Given the description of an element on the screen output the (x, y) to click on. 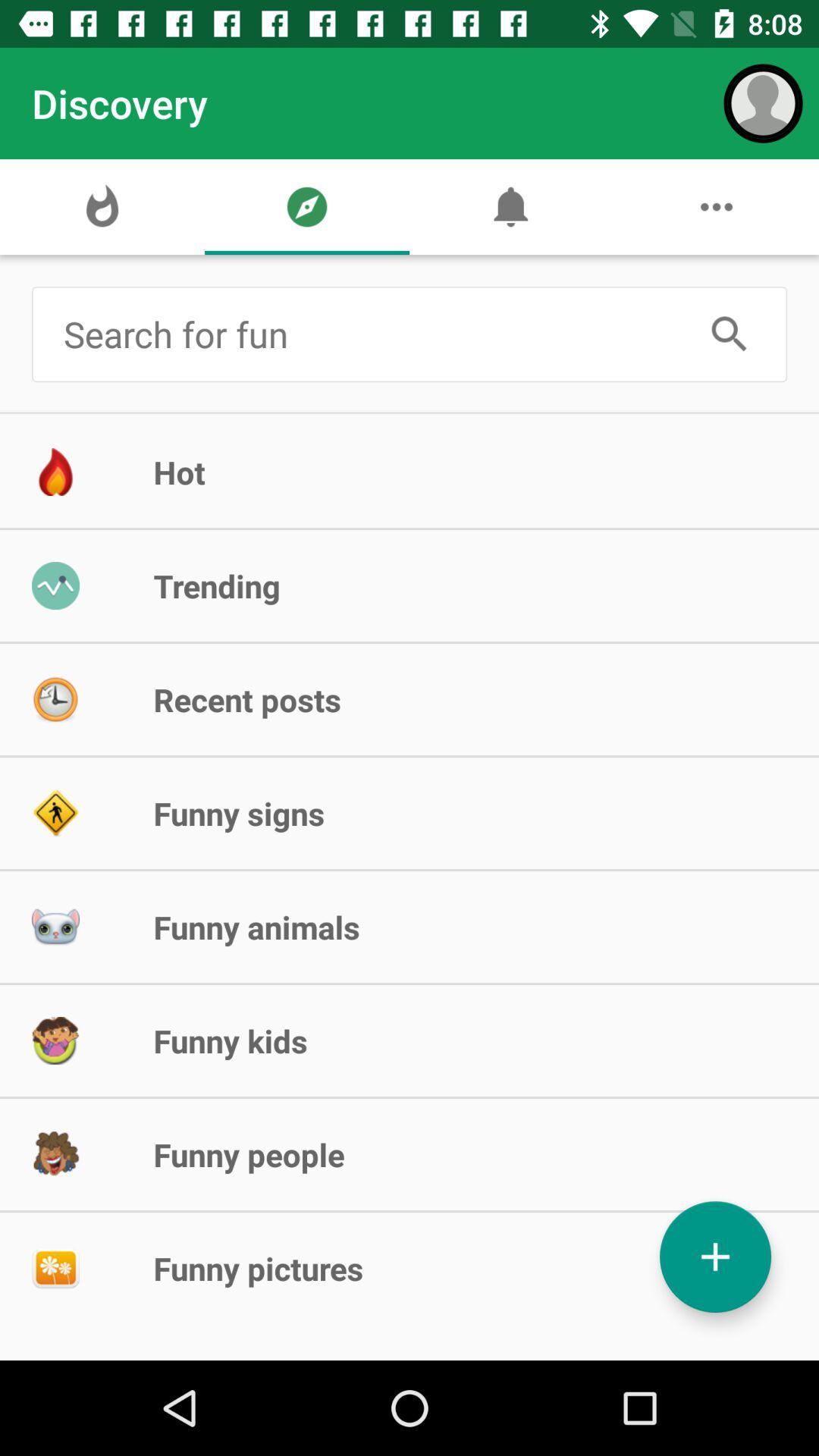
search for images (372, 333)
